Given the description of an element on the screen output the (x, y) to click on. 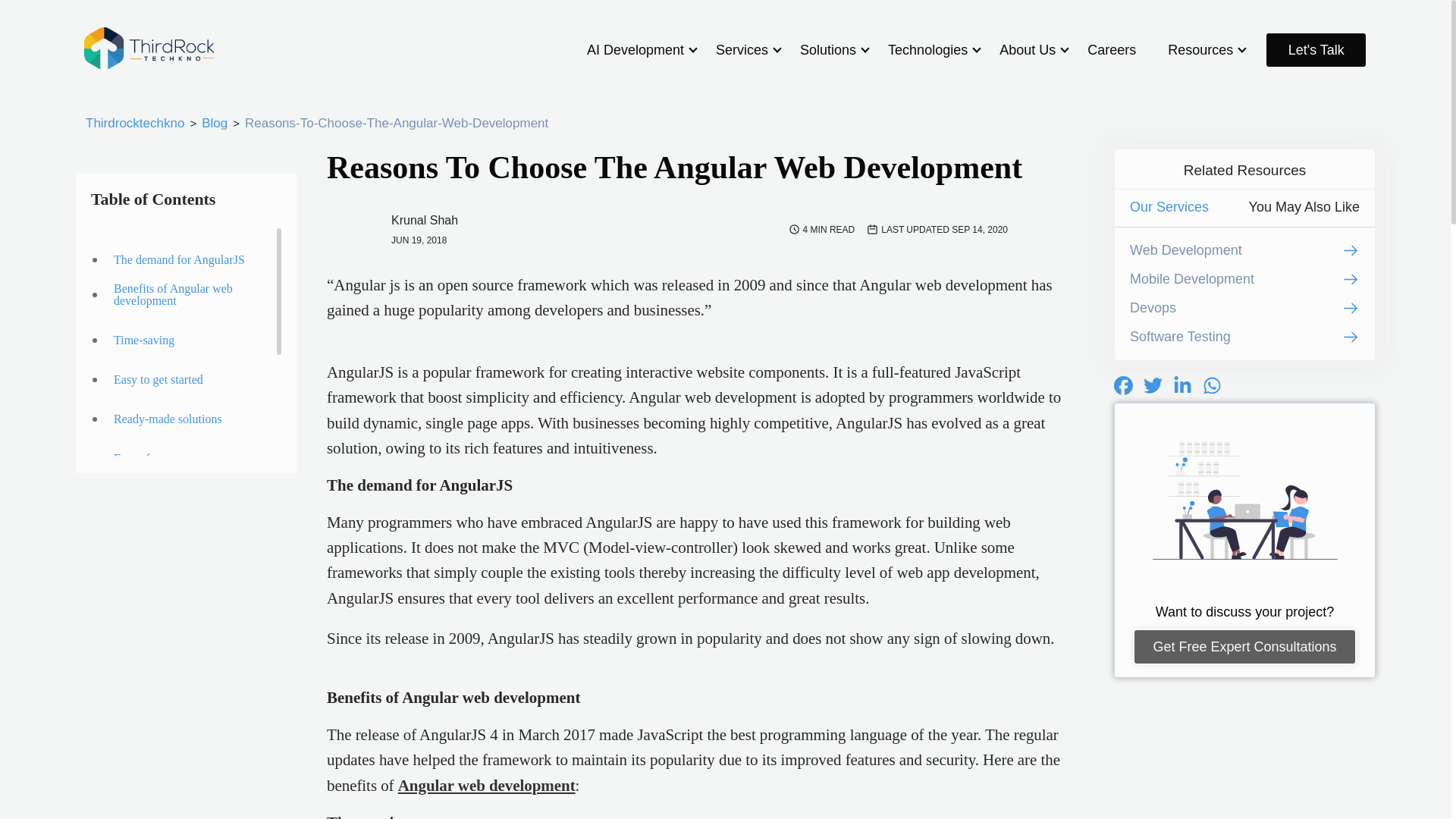
Resources (1200, 49)
About Us (1026, 49)
Let's Talk (1316, 49)
Solutions (827, 49)
Let's Talk (1316, 49)
Technologies (928, 49)
Services (742, 49)
Careers (1111, 49)
AI Development (635, 49)
